Given the description of an element on the screen output the (x, y) to click on. 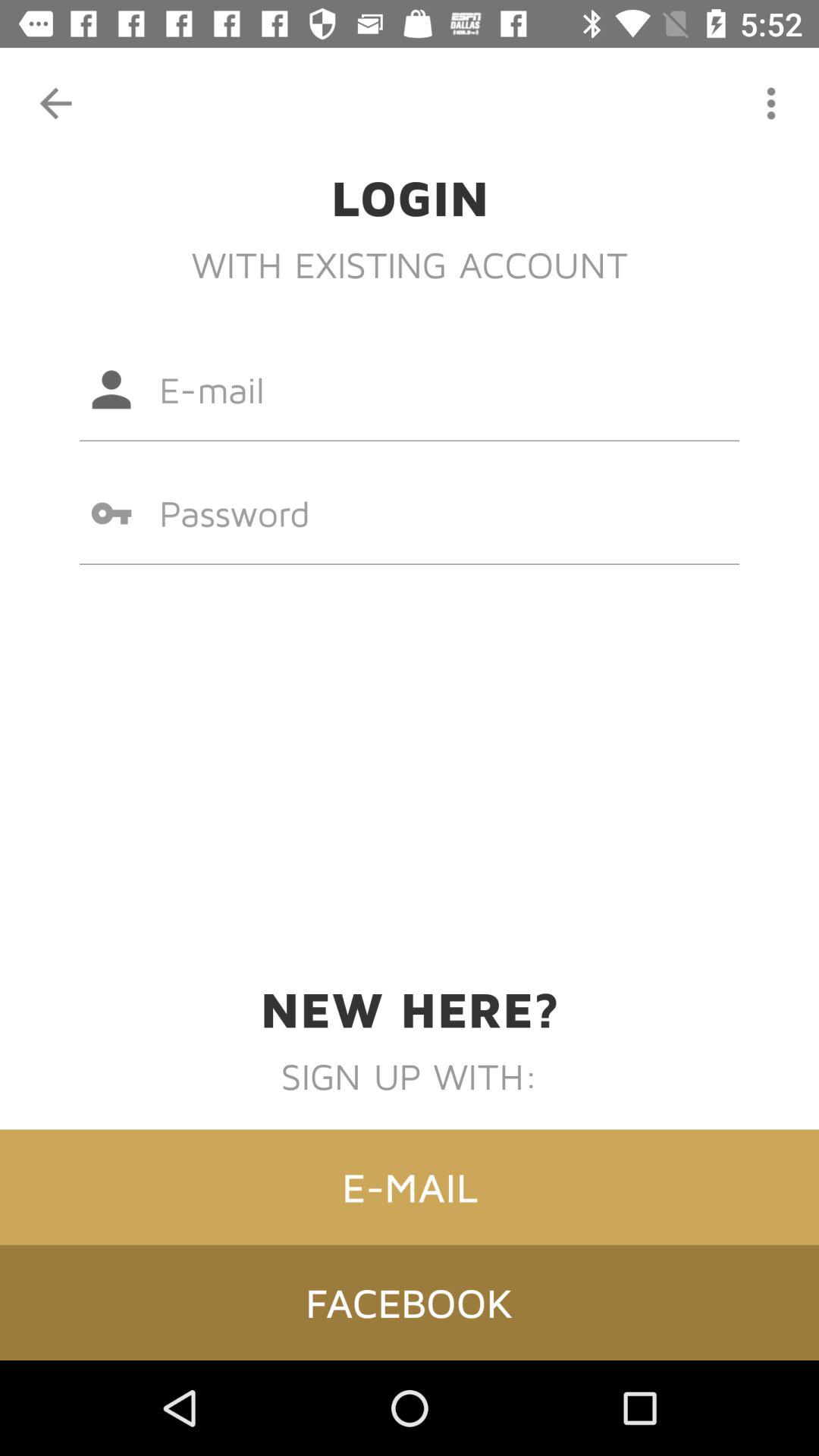
press facebook item (409, 1302)
